Given the description of an element on the screen output the (x, y) to click on. 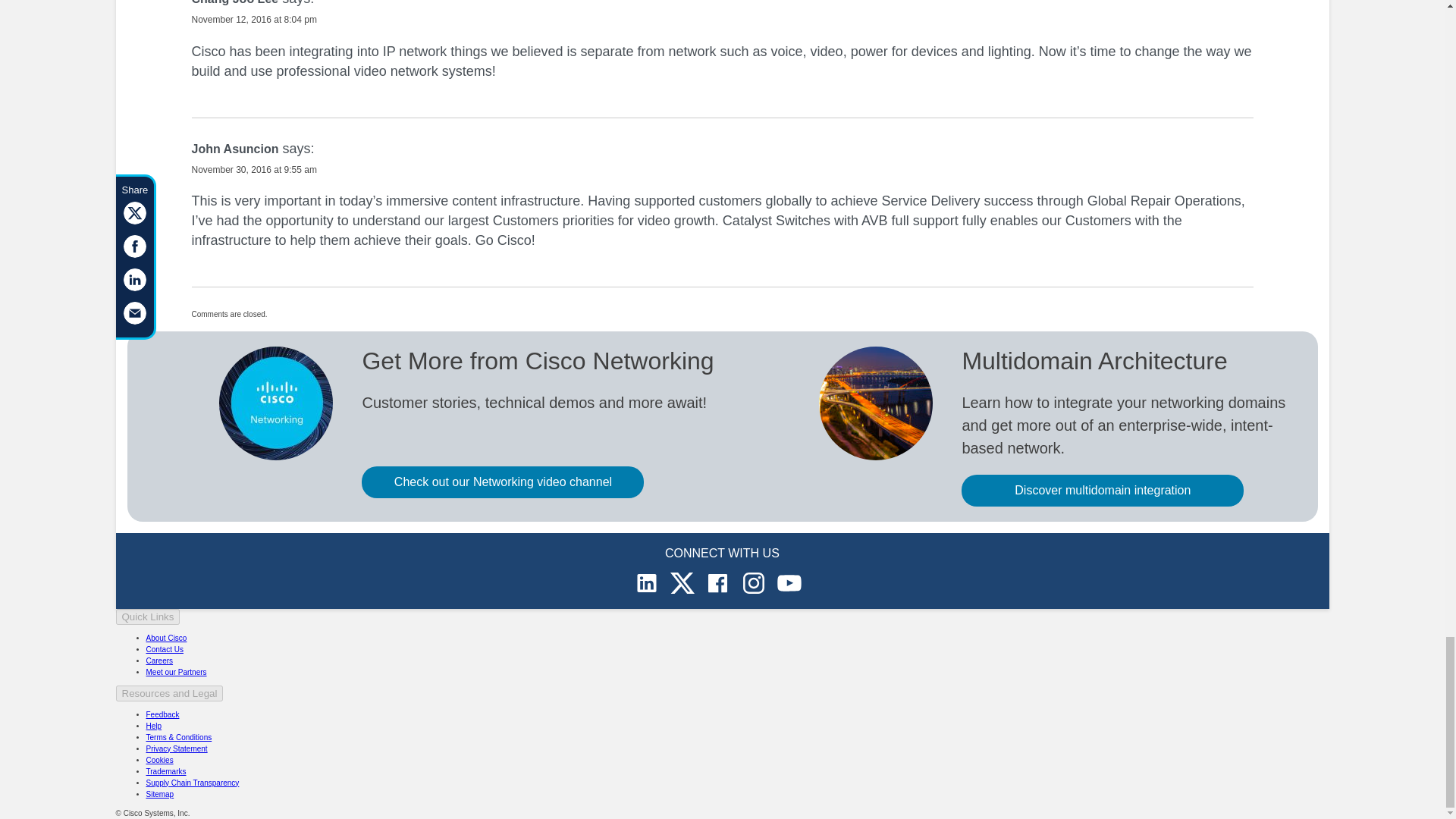
Check out our Networking video channel (502, 481)
November 12, 2016 at 8:04 pm (252, 19)
November 30, 2016 at 9:55 am (252, 169)
